Given the description of an element on the screen output the (x, y) to click on. 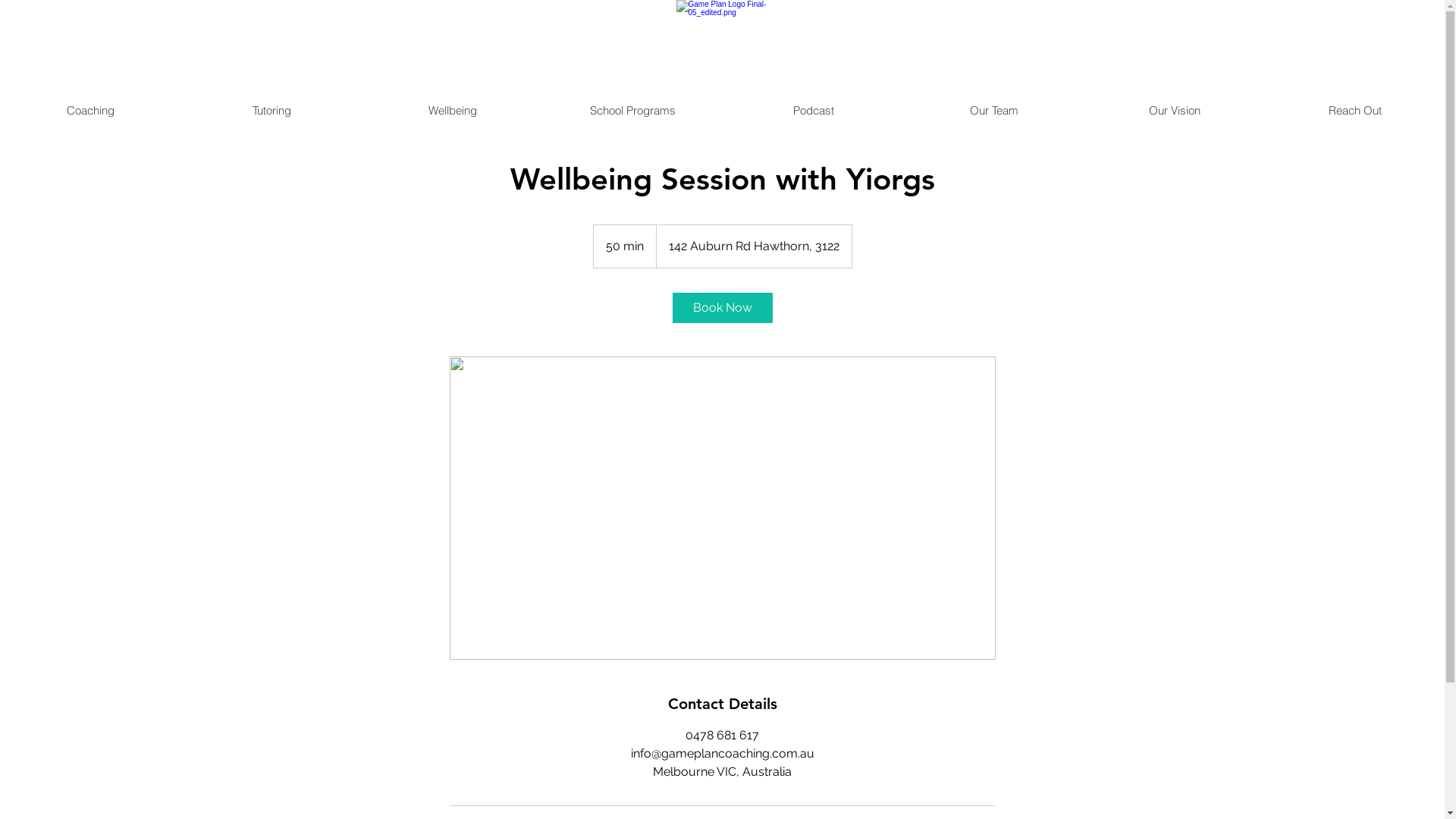
Our Team Element type: text (993, 110)
School Programs Element type: text (632, 110)
Podcast Element type: text (812, 110)
Tutoring Element type: text (271, 110)
Wellbeing Element type: text (451, 110)
Our Vision Element type: text (1173, 110)
Book Now Element type: text (721, 307)
Reach Out Element type: text (1354, 110)
Coaching Element type: text (90, 110)
